Given the description of an element on the screen output the (x, y) to click on. 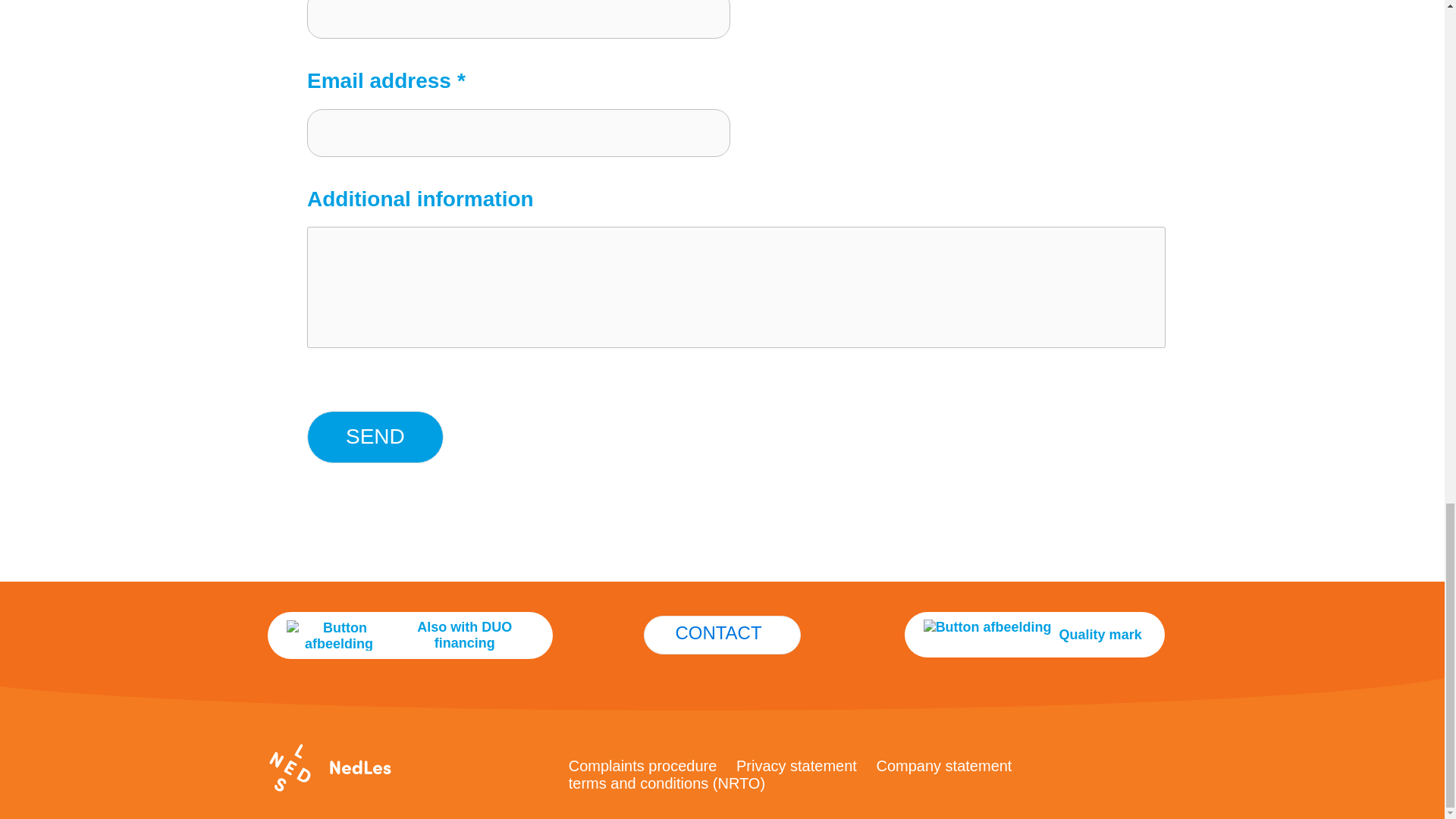
Send (375, 437)
Also with DUO financing (409, 634)
Facebook (409, 766)
Send (375, 437)
CONTACT (721, 634)
Quality mark (1034, 634)
